Given the description of an element on the screen output the (x, y) to click on. 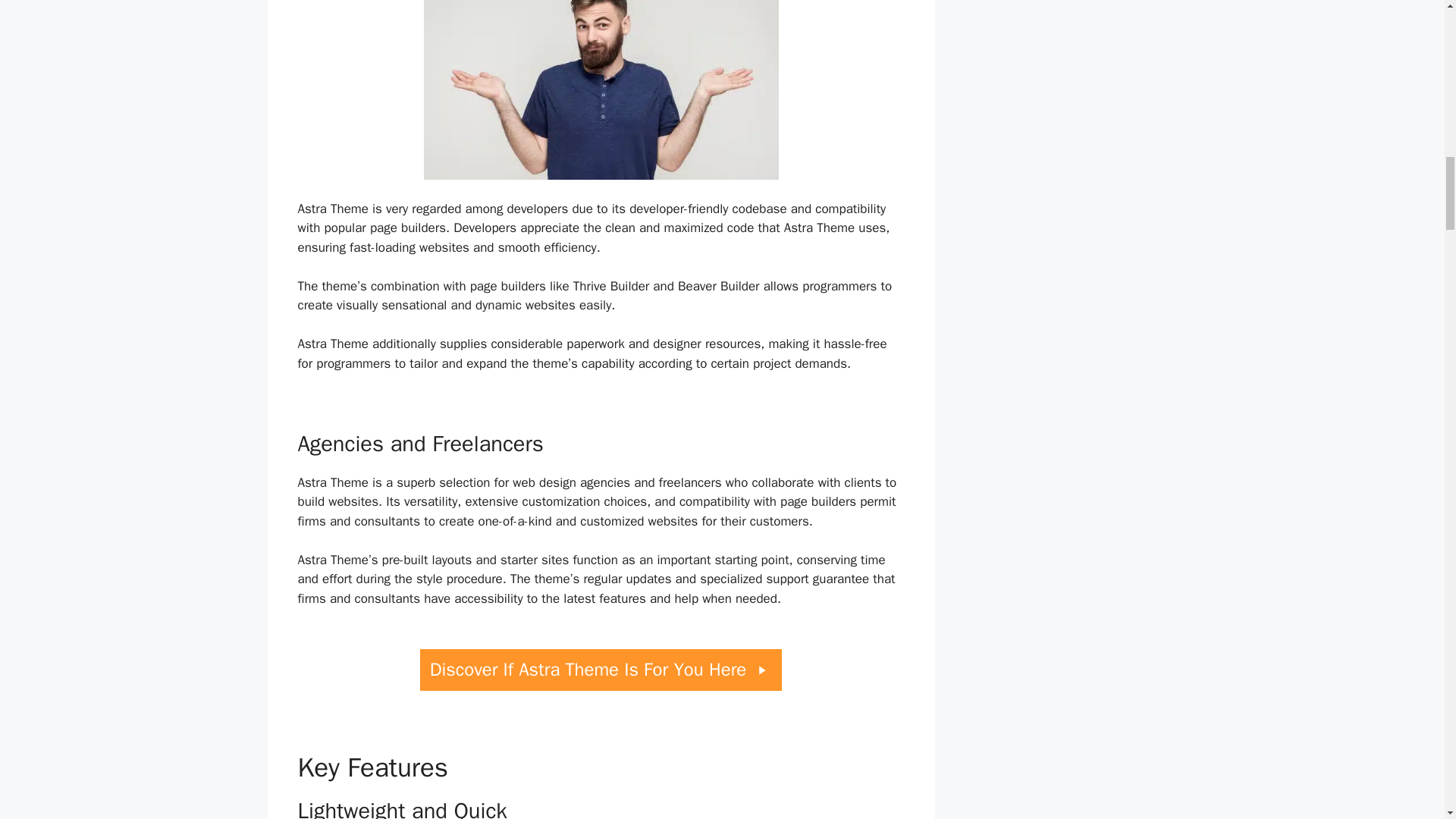
Discover If Astra Theme Is For You Here (601, 670)
